Given the description of an element on the screen output the (x, y) to click on. 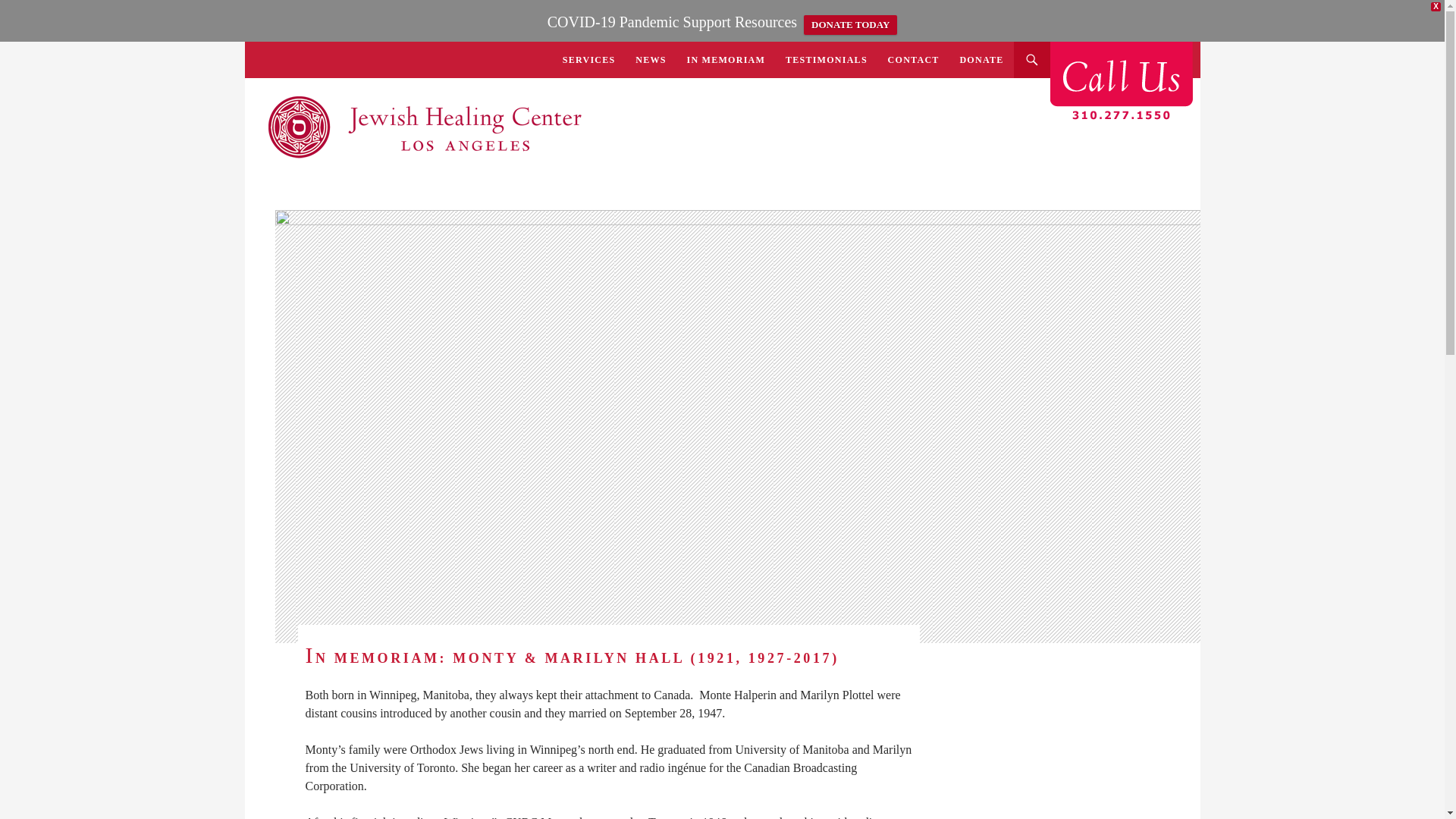
CONTACT (914, 59)
call-us (1120, 81)
IN MEMORIAM (725, 59)
SERVICES (588, 59)
DONATE TODAY (849, 25)
DONATE (980, 59)
TESTIMONIALS (826, 59)
NEWS (650, 59)
